Given the description of an element on the screen output the (x, y) to click on. 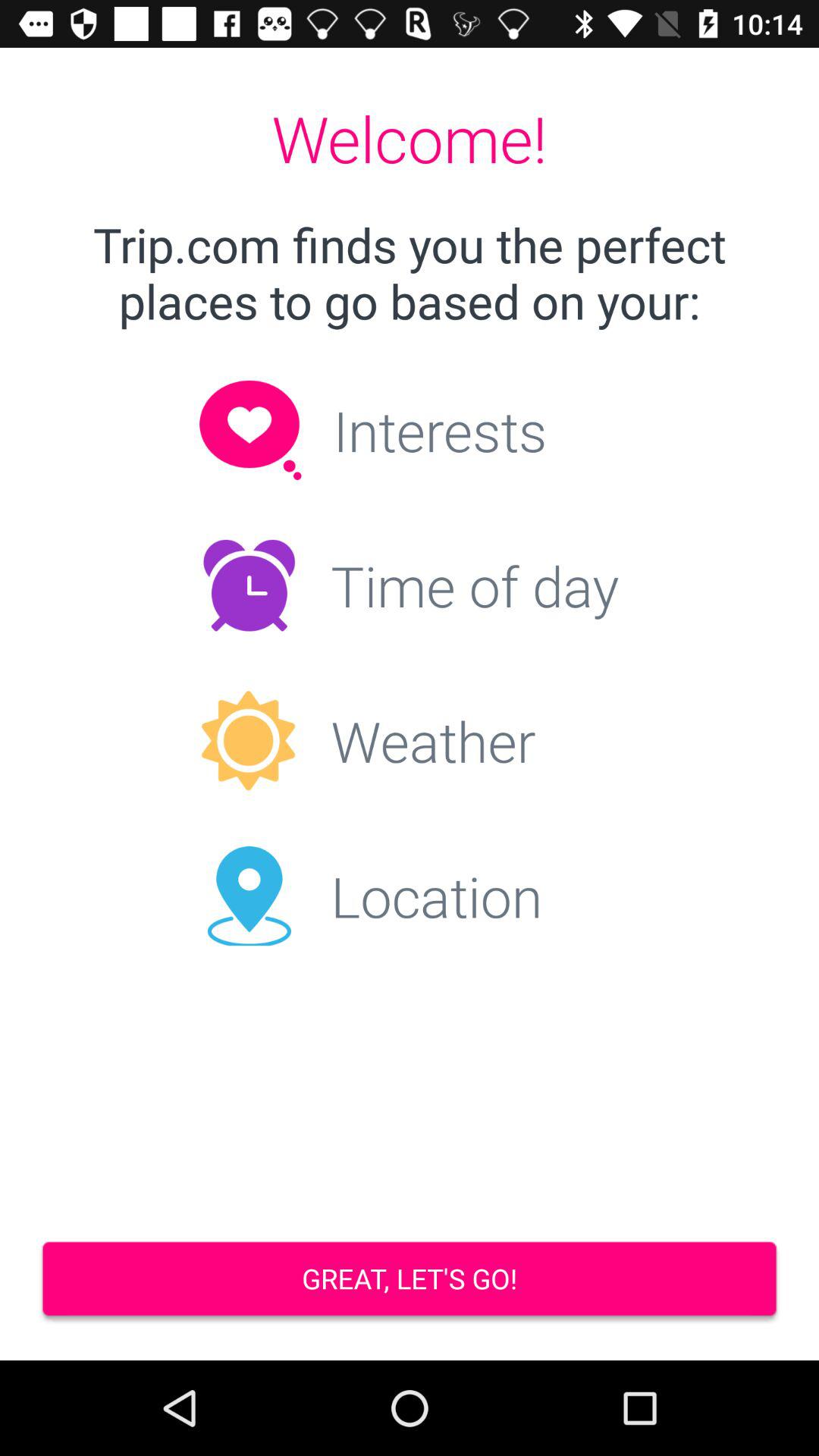
turn on great let s (409, 1280)
